Given the description of an element on the screen output the (x, y) to click on. 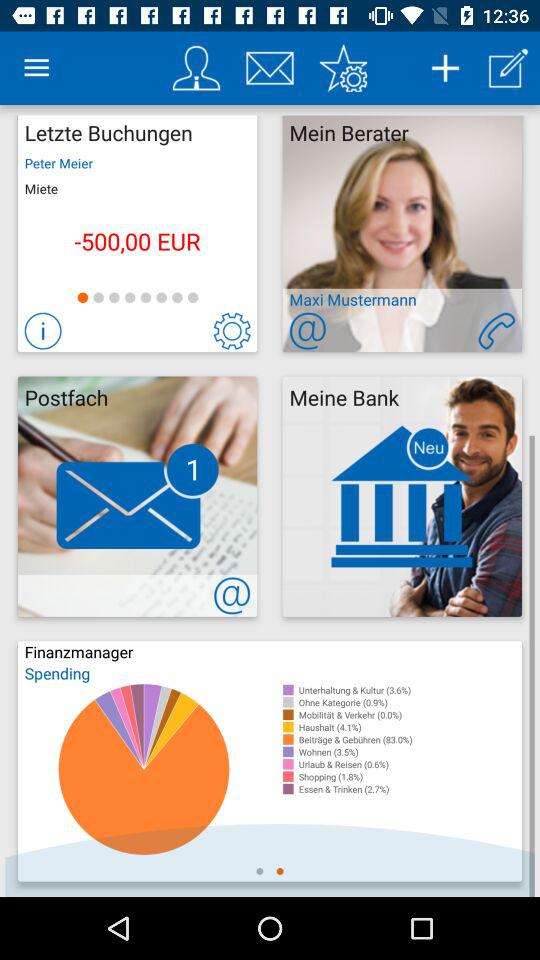
contact us (231, 595)
